Given the description of an element on the screen output the (x, y) to click on. 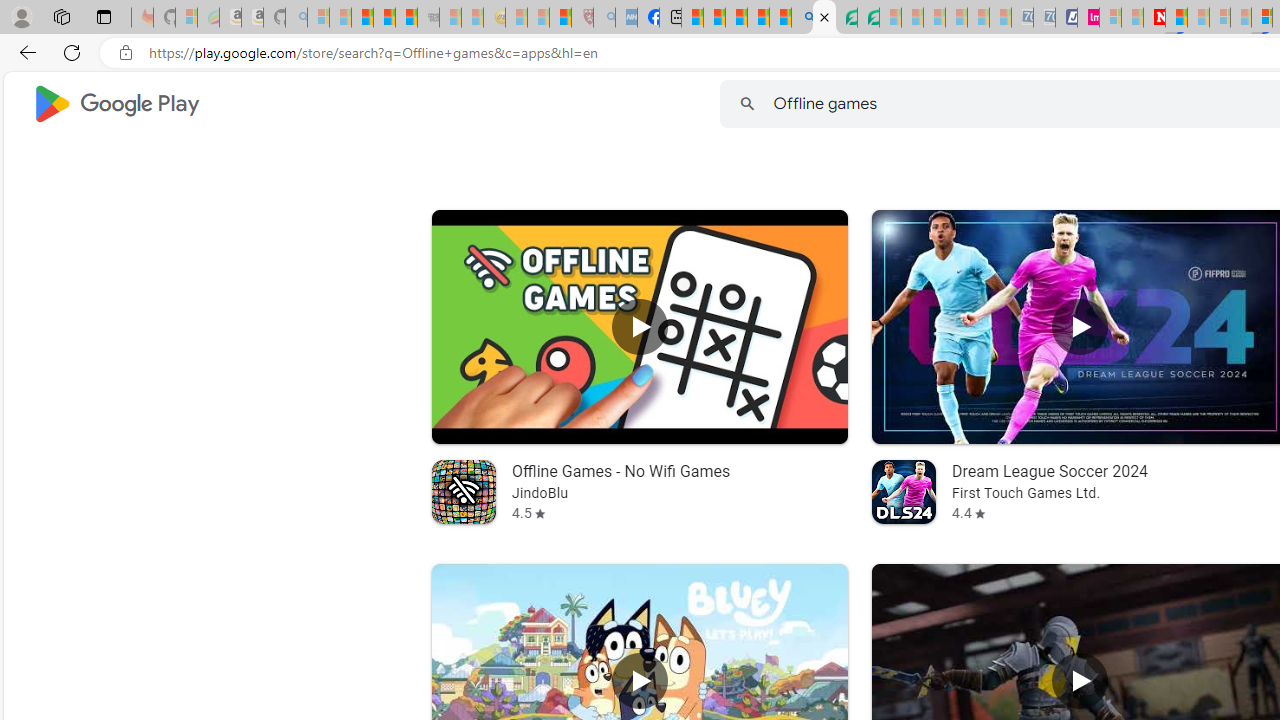
Offline games - Android Apps on Google Play (824, 17)
The Weather Channel - MSN (362, 17)
Microsoft-Report a Concern to Bing - Sleeping (186, 17)
Microsoft Word - consumer-privacy address update 2.2021 (868, 17)
Play Shadow Fight 3 - RPG fighting (1079, 681)
Cheap Car Rentals - Save70.com - Sleeping (1022, 17)
Jobs - lastminute.com Investor Portal (1088, 17)
Google Play logo (115, 104)
14 Common Myths Debunked By Scientific Facts - Sleeping (1198, 17)
